Given the description of an element on the screen output the (x, y) to click on. 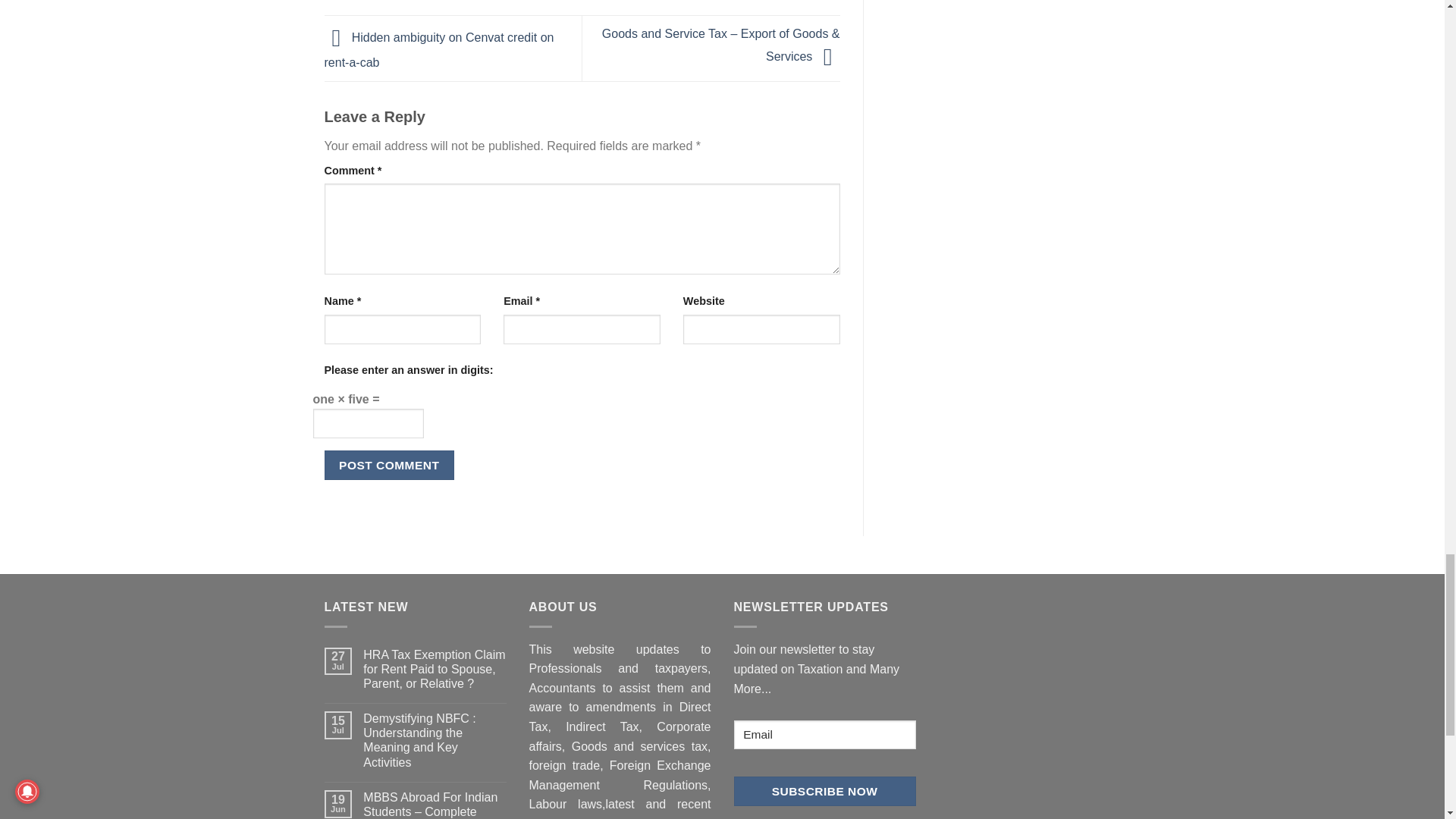
Subscribe Now (824, 790)
Email (824, 735)
Post Comment (389, 464)
